Given the description of an element on the screen output the (x, y) to click on. 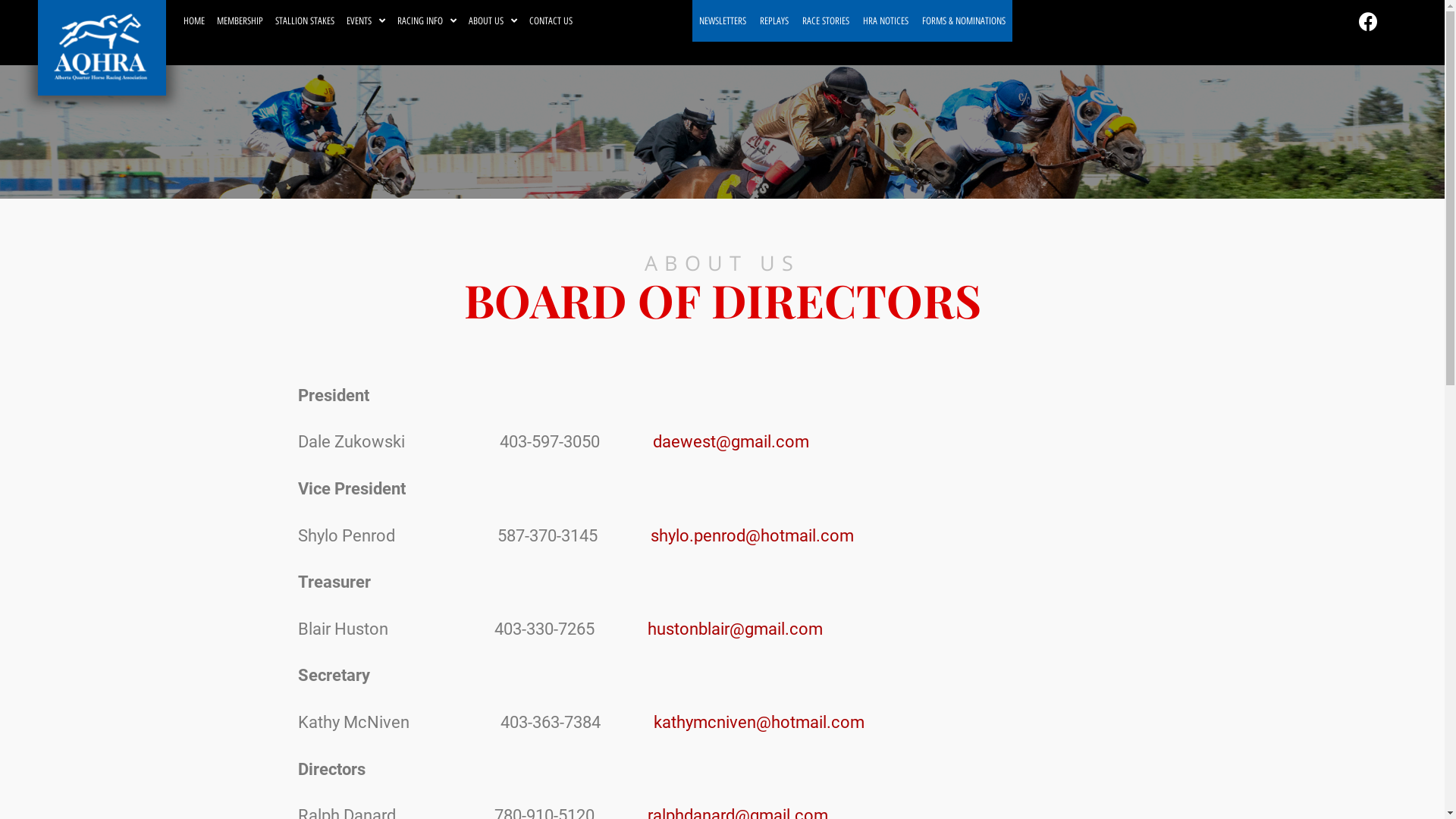
REPLAYS Element type: text (773, 20)
hustonblair@gmail.com Element type: text (734, 628)
kathymcniven@hotmail.com Element type: text (758, 721)
EVENTS Element type: text (364, 20)
RACING INFO Element type: text (426, 20)
ABOUT US Element type: text (492, 20)
HOME Element type: text (193, 20)
daewest@gmail.com Element type: text (730, 441)
CONTACT US Element type: text (550, 20)
STALLION STAKES Element type: text (303, 20)
RACE STORIES Element type: text (825, 20)
NEWSLETTERS Element type: text (722, 20)
shylo.penrod@hotmail.com Element type: text (751, 535)
HRA NOTICES Element type: text (885, 20)
FORMS & NOMINATIONS Element type: text (963, 20)
MEMBERSHIP Element type: text (239, 20)
